Given the description of an element on the screen output the (x, y) to click on. 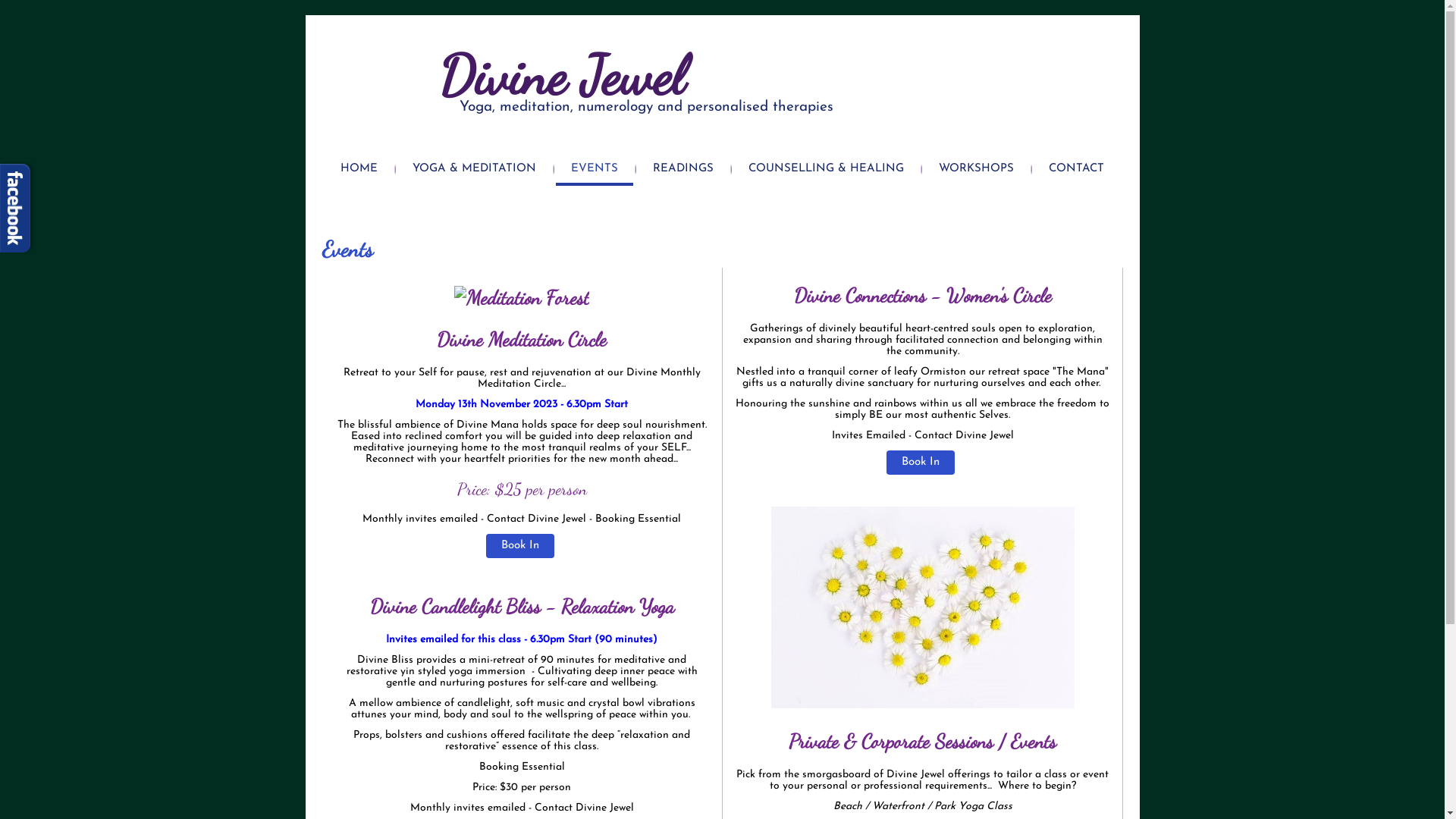
Book In Element type: text (520, 545)
Book In Element type: text (920, 462)
HOME Element type: text (358, 170)
COUNSELLING & HEALING Element type: text (826, 170)
READINGS Element type: text (682, 170)
CONTACT Element type: text (1076, 170)
YOGA & MEDITATION Element type: text (474, 170)
Divine Jewel Element type: text (561, 75)
WORKSHOPS Element type: text (976, 170)
EVENTS Element type: text (594, 170)
